Given the description of an element on the screen output the (x, y) to click on. 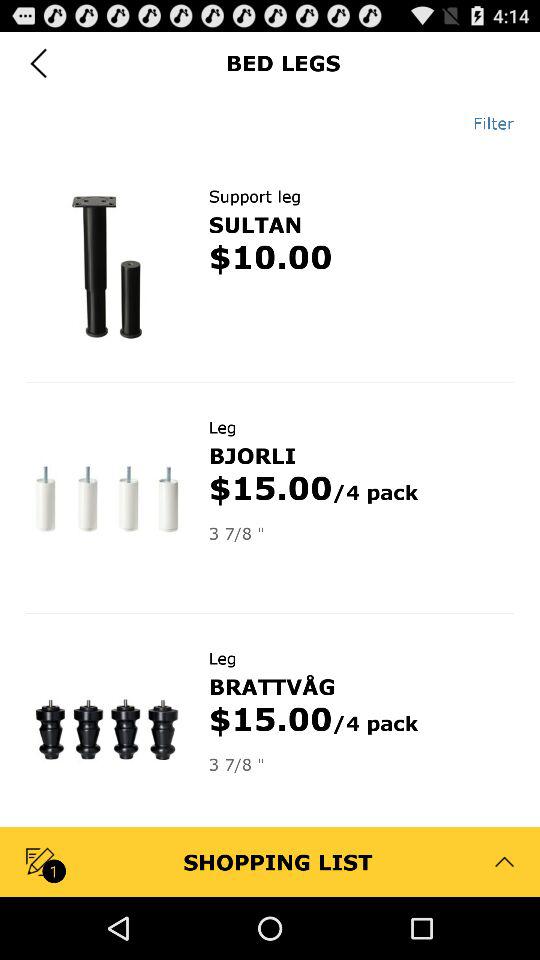
jump to the filter (486, 123)
